Given the description of an element on the screen output the (x, y) to click on. 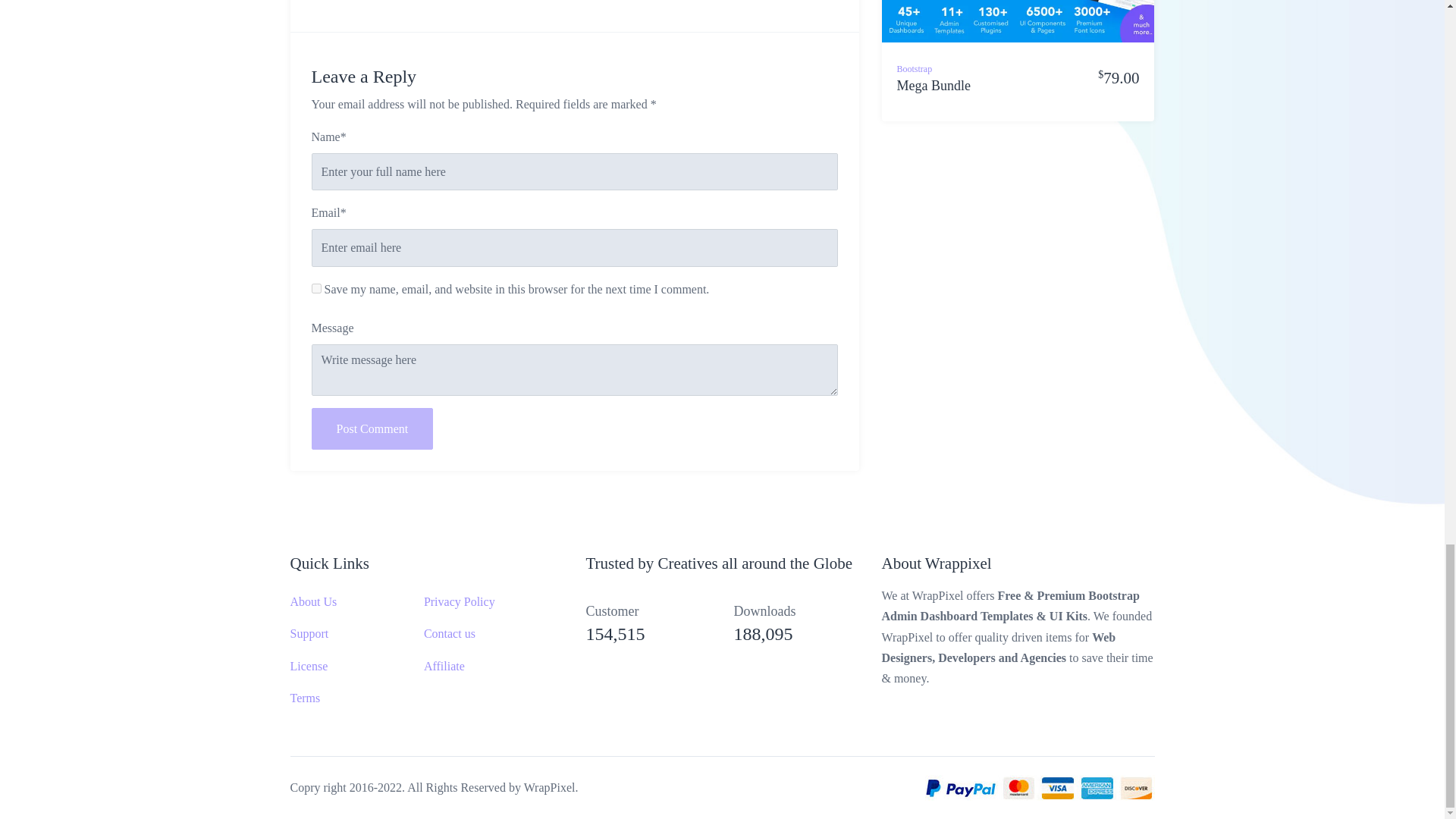
Post Comment (371, 428)
About Us (312, 601)
Contact us (449, 633)
Post Comment (371, 428)
License (308, 666)
Privacy Policy (459, 601)
Mega Bundle (932, 94)
Support (309, 633)
yes (315, 288)
